Given the description of an element on the screen output the (x, y) to click on. 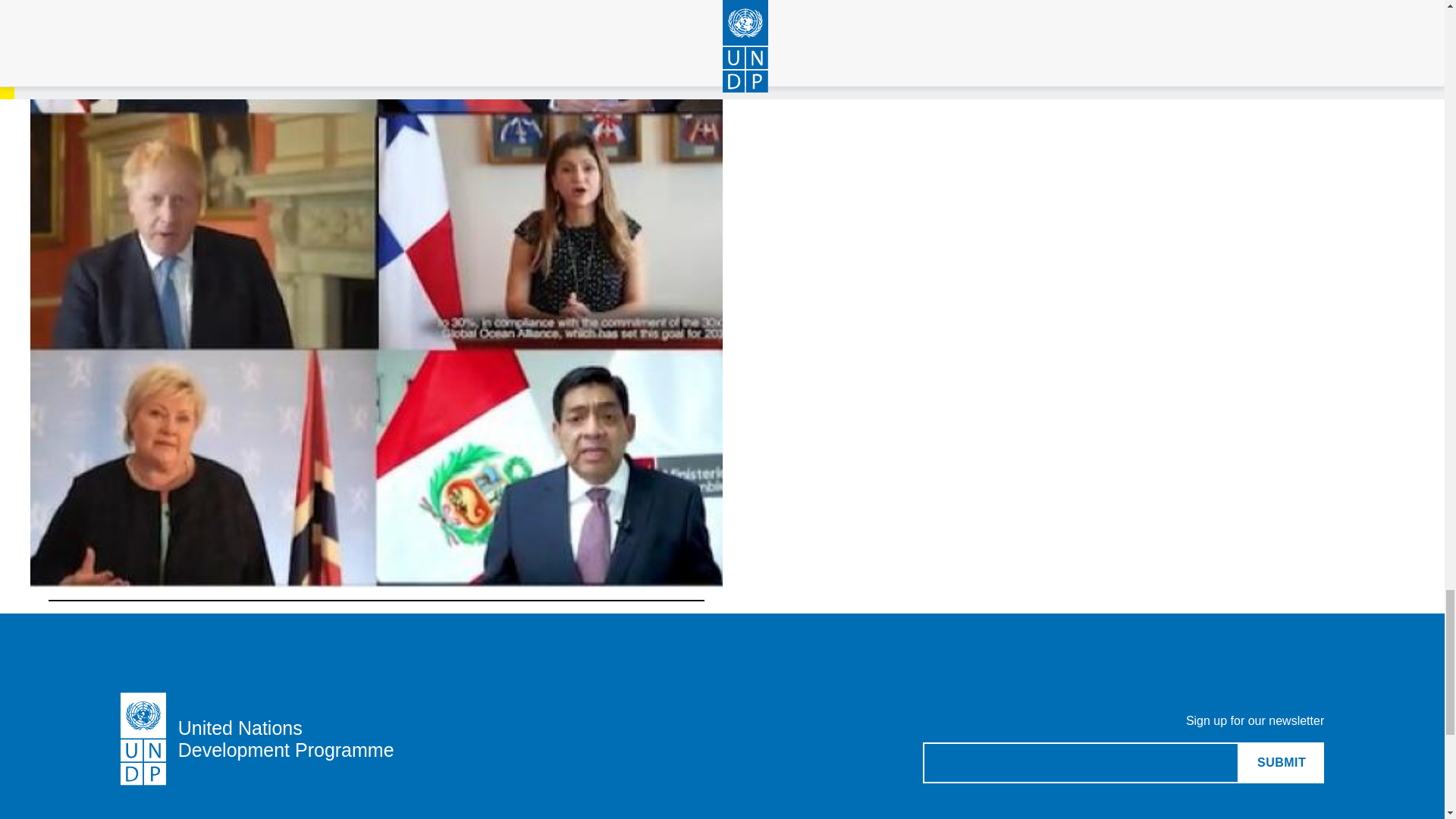
Submit (1281, 762)
